Given the description of an element on the screen output the (x, y) to click on. 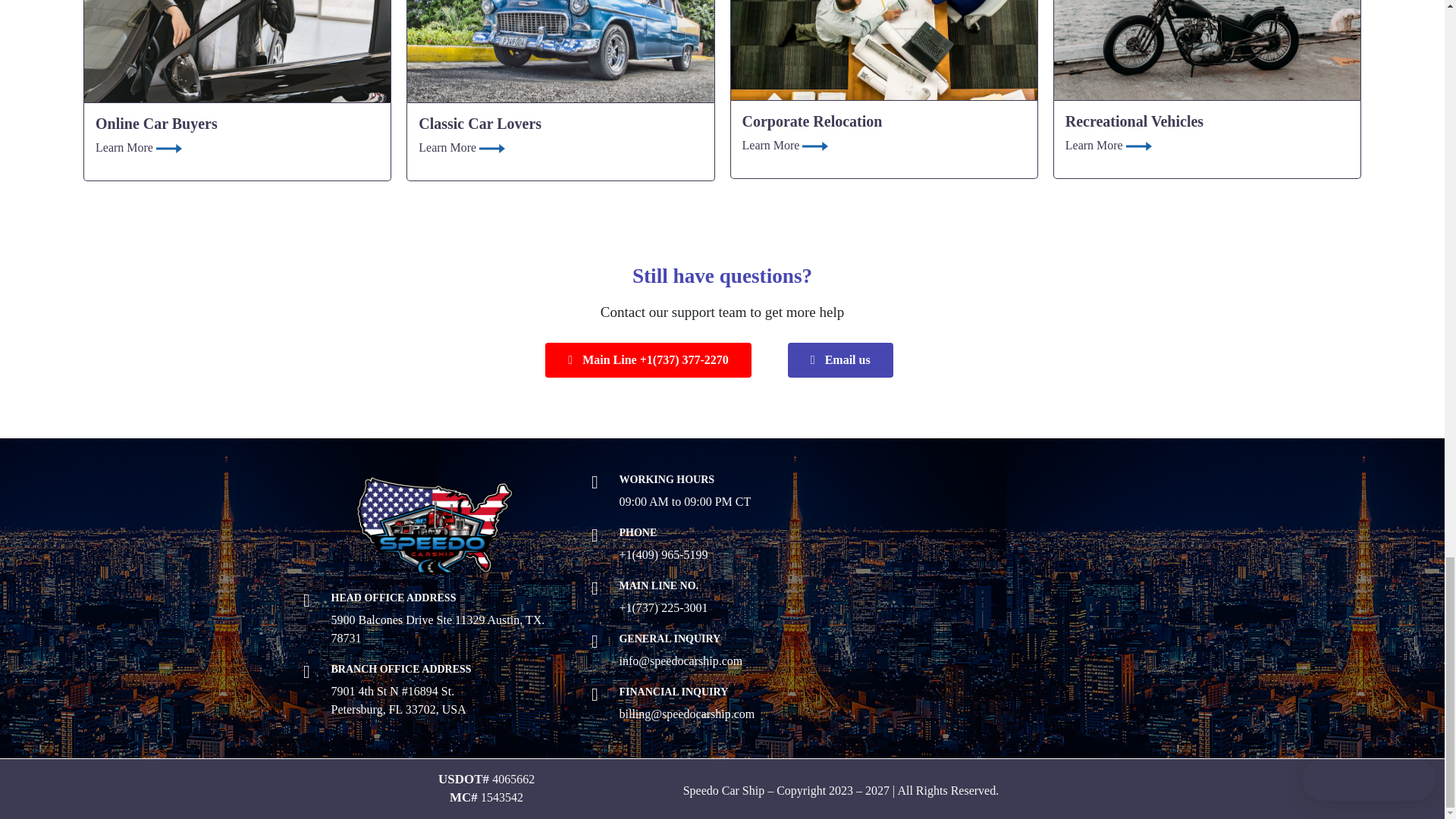
5900 Balcones Dr, Austin, TX 78731, USA (1010, 587)
